Given the description of an element on the screen output the (x, y) to click on. 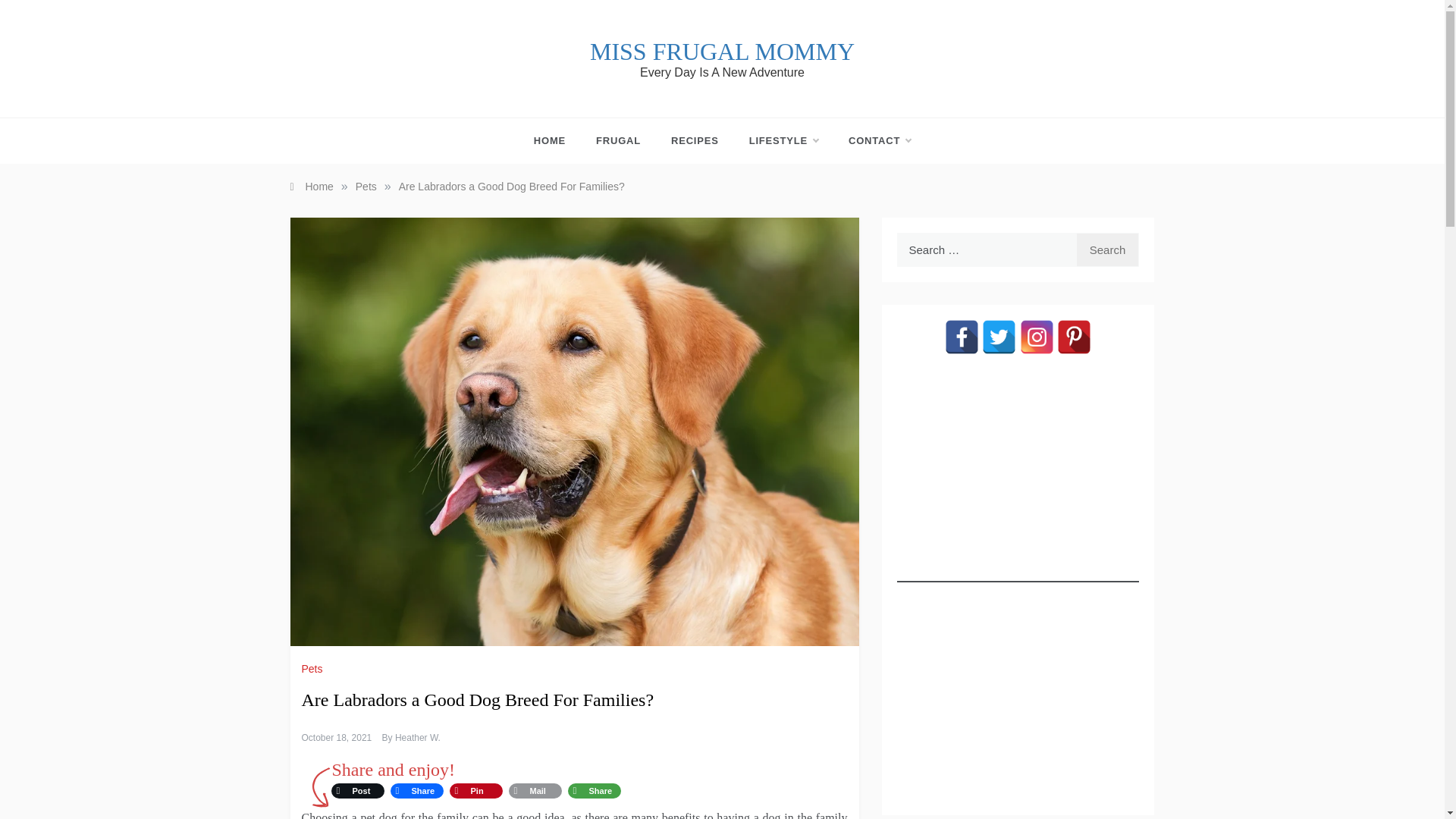
Facebook (416, 790)
Facebook (961, 336)
LIFESTYLE (782, 140)
CONTACT (871, 140)
Advertisement (1017, 687)
Heather W. (417, 737)
Instagram (1037, 336)
MISS FRUGAL MOMMY (721, 51)
Pets (366, 186)
Search (1107, 249)
Pinterest (475, 790)
More Options (593, 790)
Pinterest (1073, 336)
Home (311, 186)
Pets (313, 668)
